Given the description of an element on the screen output the (x, y) to click on. 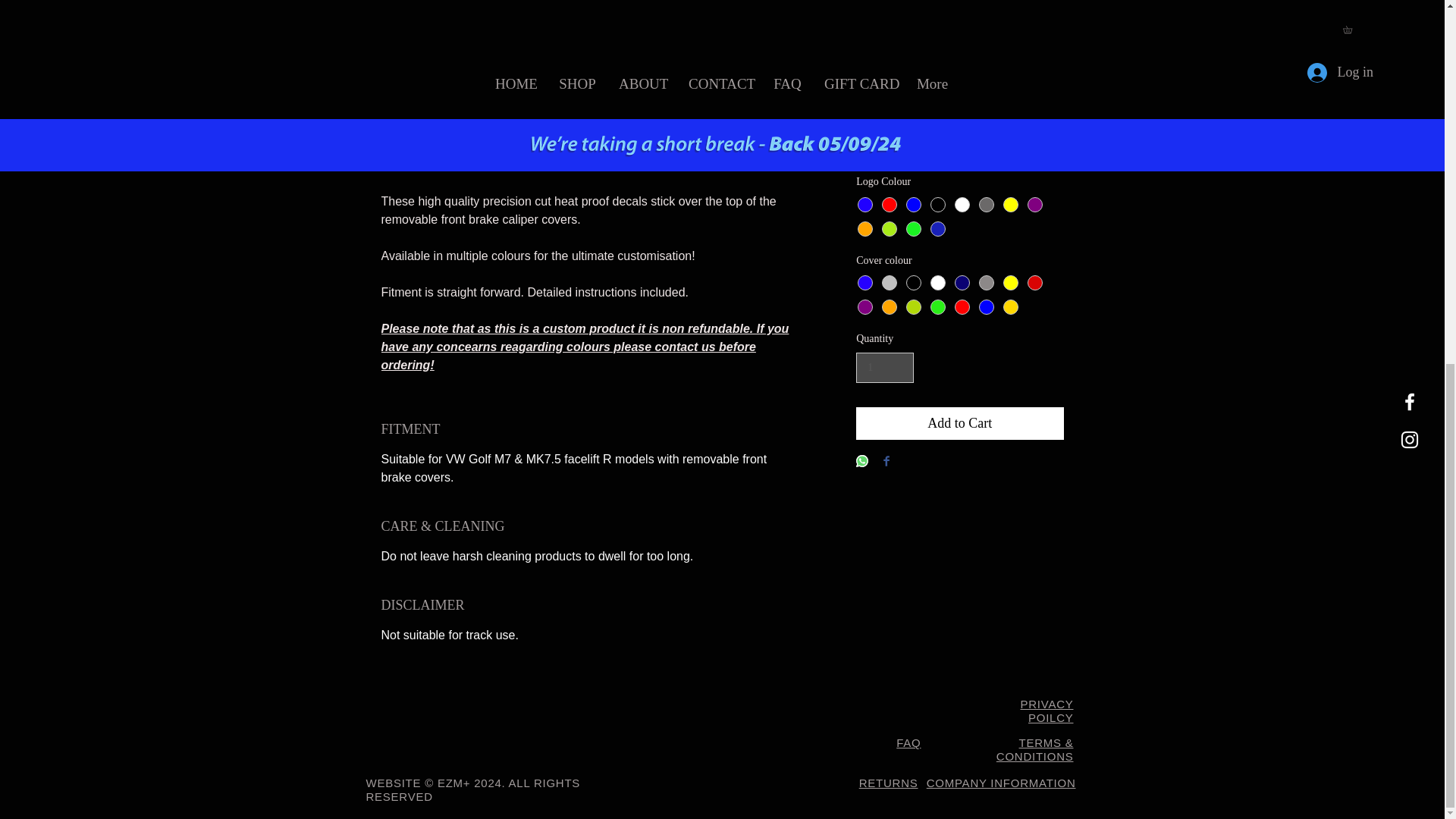
RETURNS (888, 783)
FAQ (908, 742)
PRIVACY POILCY (1047, 710)
Add to Cart (959, 423)
